Given the description of an element on the screen output the (x, y) to click on. 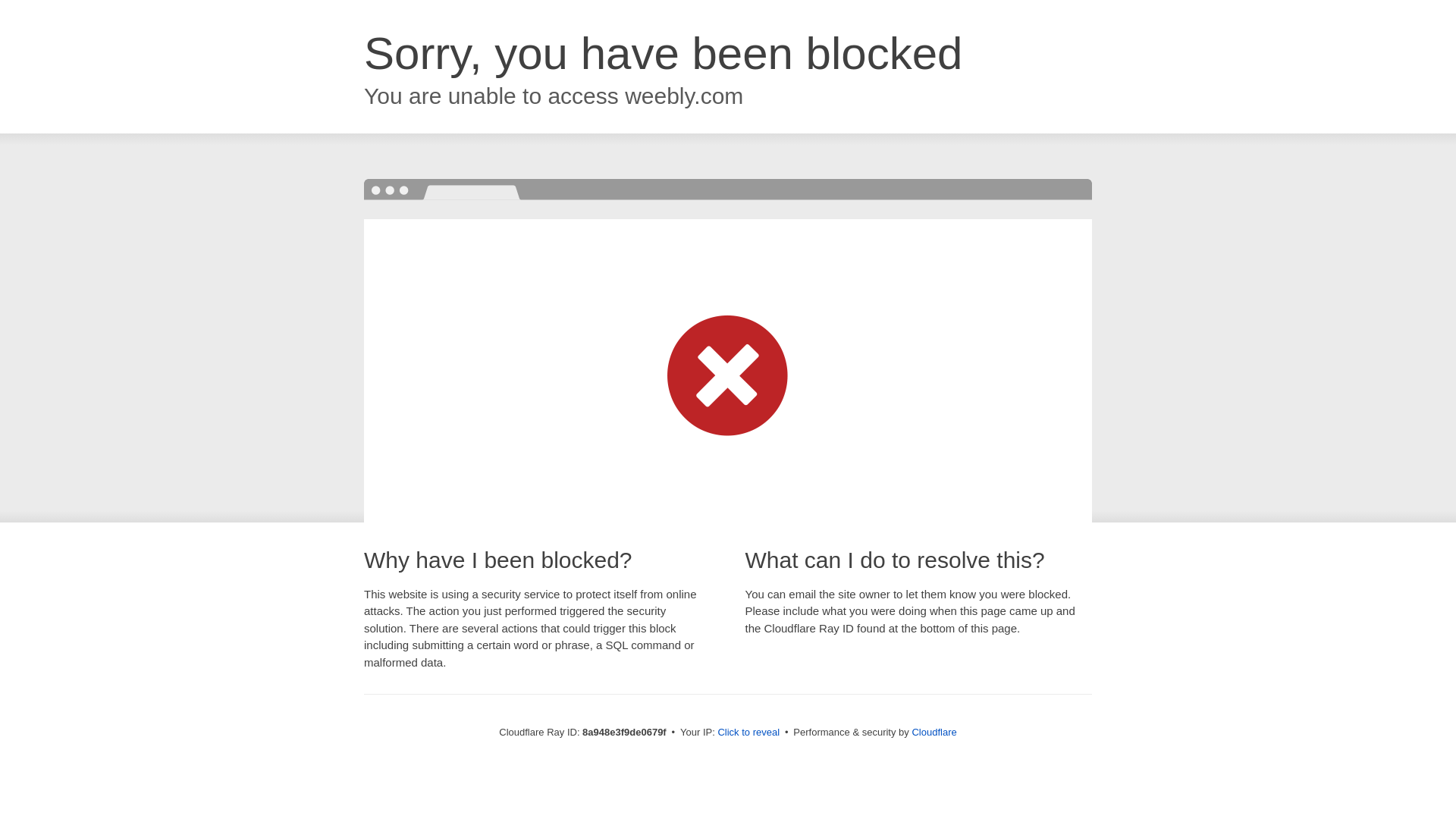
Cloudflare (933, 731)
Click to reveal (747, 732)
